Given the description of an element on the screen output the (x, y) to click on. 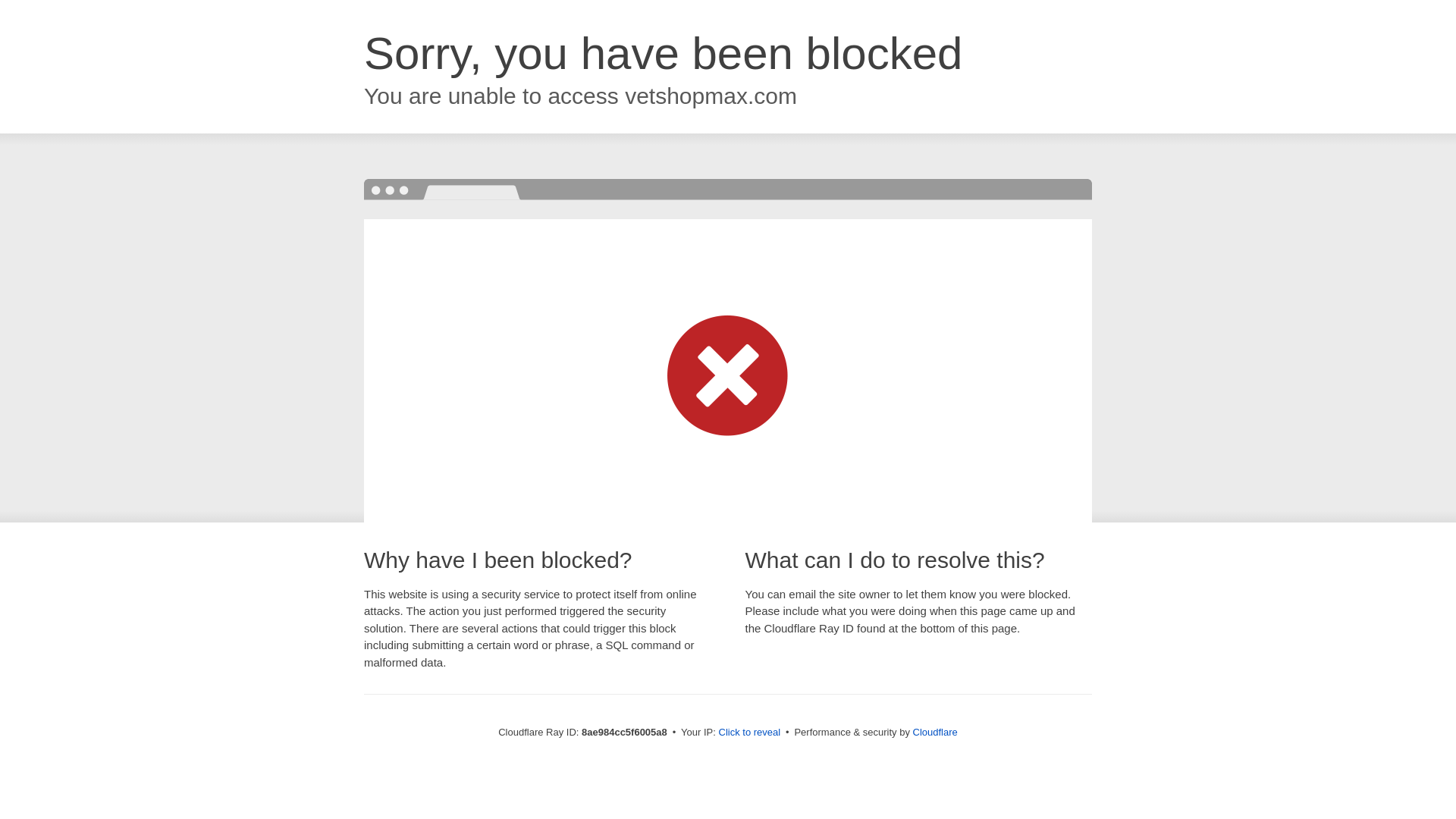
Click to reveal (749, 732)
Cloudflare (935, 731)
